Given the description of an element on the screen output the (x, y) to click on. 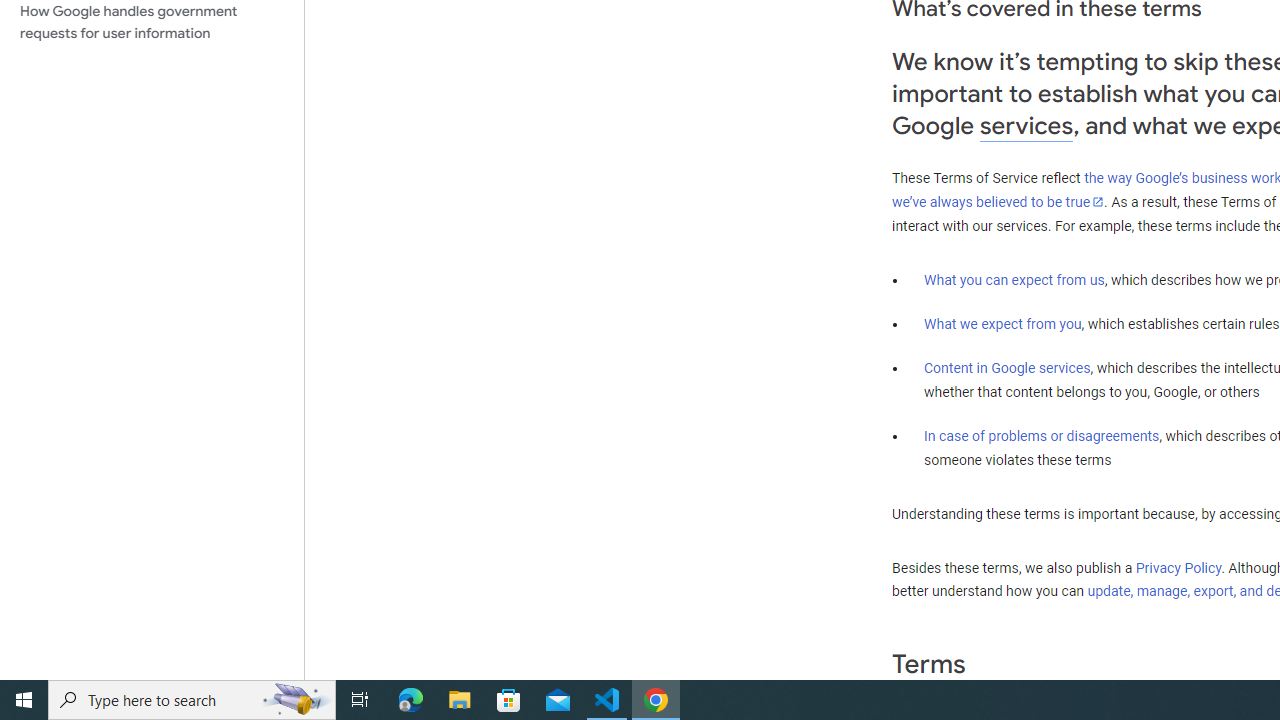
What you can expect from us (1014, 279)
What we expect from you (1002, 323)
Content in Google services (1007, 368)
services (1026, 125)
In case of problems or disagreements (1041, 435)
